Given the description of an element on the screen output the (x, y) to click on. 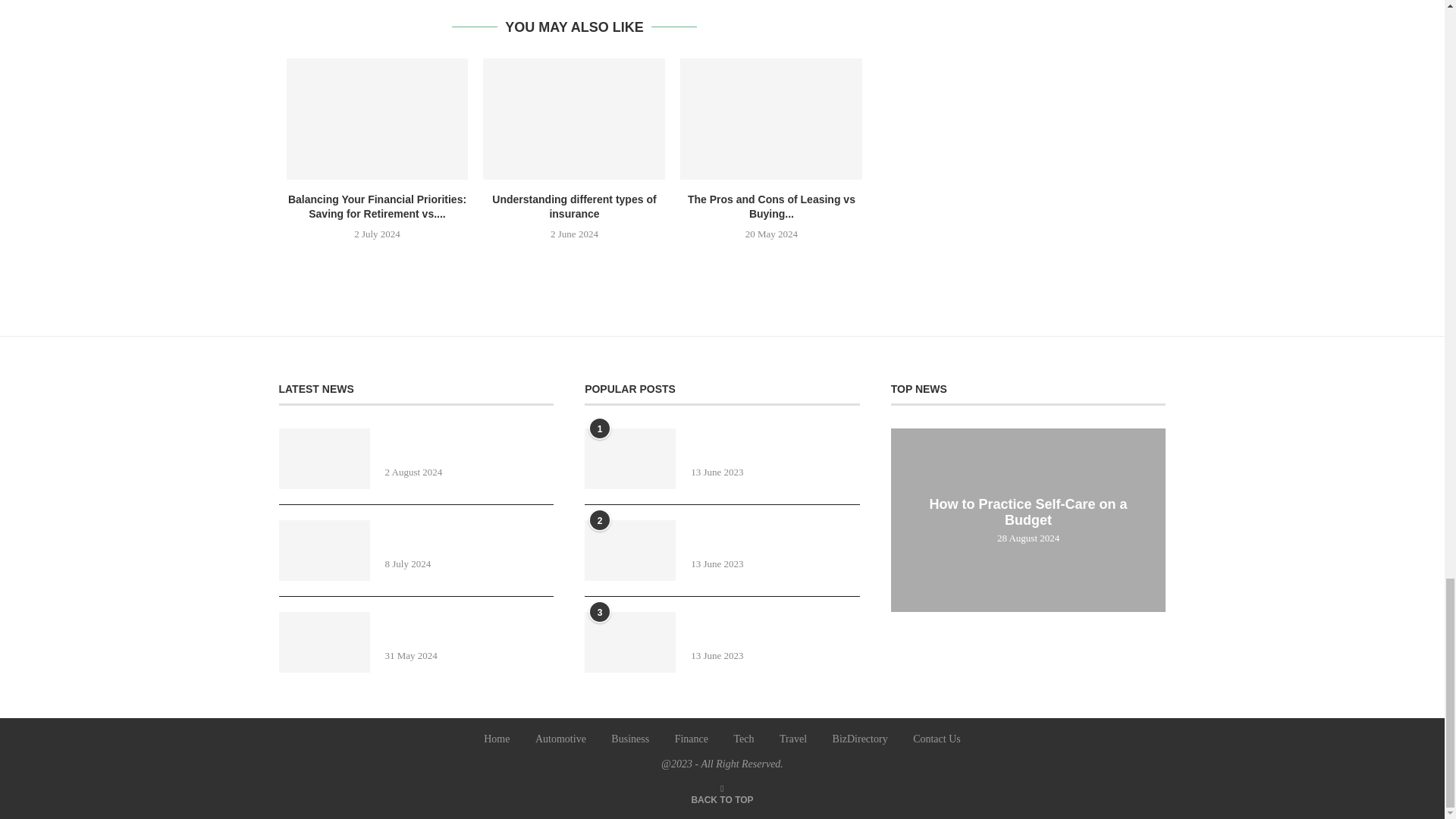
Understanding different types of insurance (574, 118)
The Pros and Cons of Leasing vs Buying a Car (770, 118)
